Given the description of an element on the screen output the (x, y) to click on. 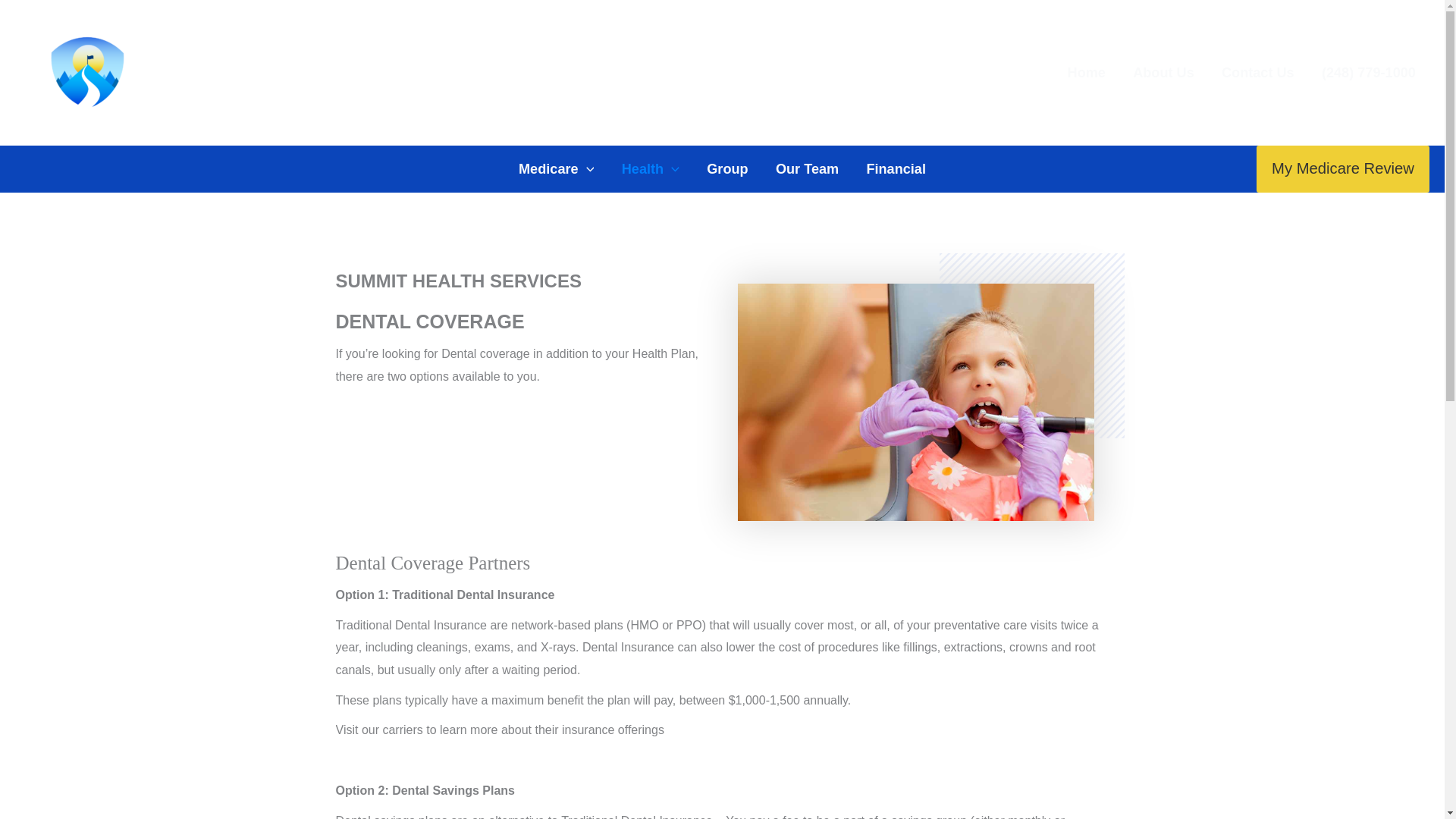
Group (727, 168)
Financial (895, 168)
Home (1085, 72)
Dental (914, 402)
About Us (1163, 72)
Health (651, 168)
Contact Us (1257, 72)
Our Team (807, 168)
Medicare (556, 168)
My Medicare Review (1342, 168)
